Given the description of an element on the screen output the (x, y) to click on. 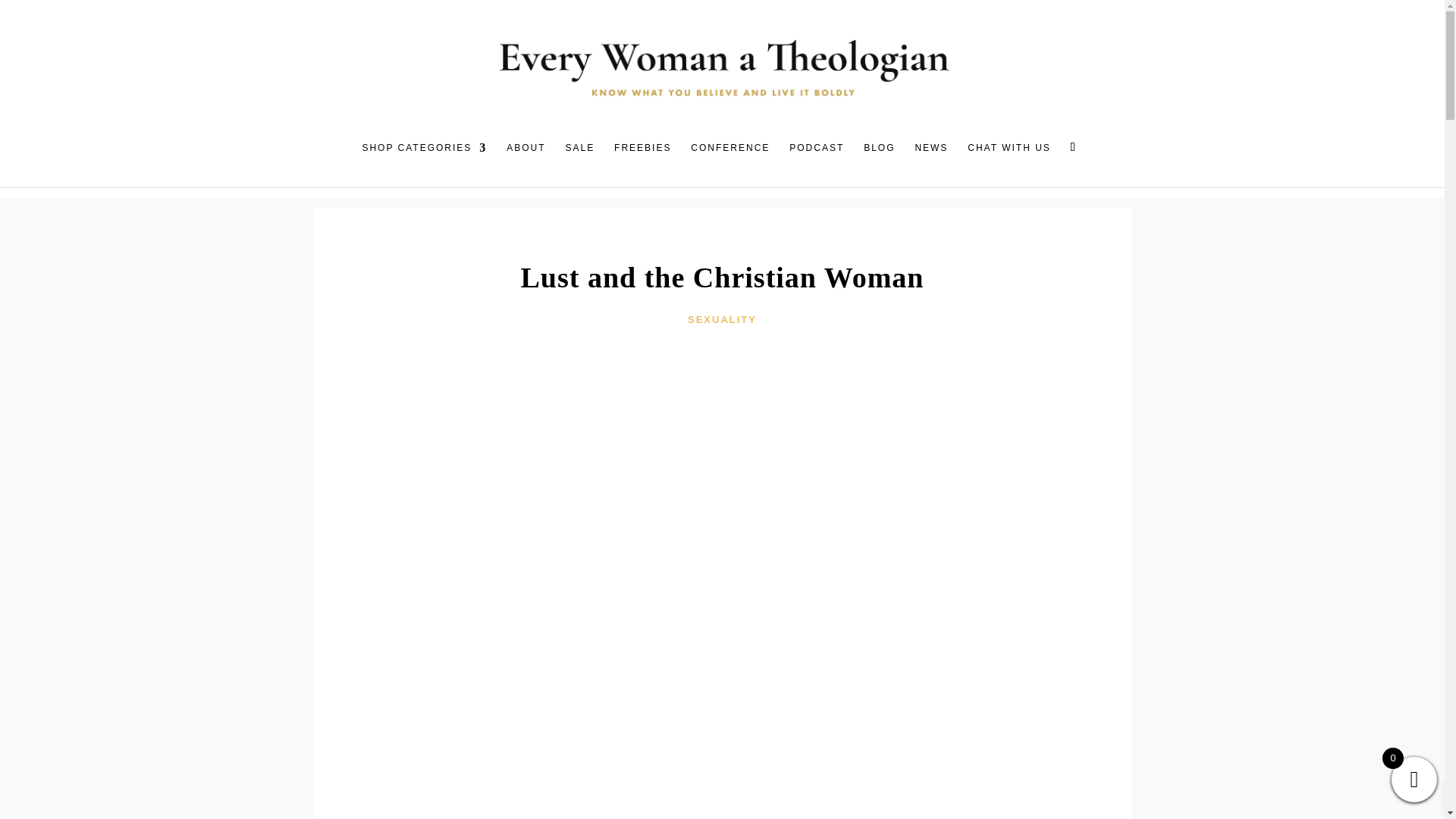
NEWS (930, 156)
PODCAST (816, 156)
CHAT WITH US (1009, 156)
SEXUALITY (722, 319)
FREEBIES (642, 156)
SHOP CATEGORIES (423, 156)
ABOUT (525, 156)
BLOG (879, 156)
CONFERENCE (730, 156)
SALE (579, 156)
